Given the description of an element on the screen output the (x, y) to click on. 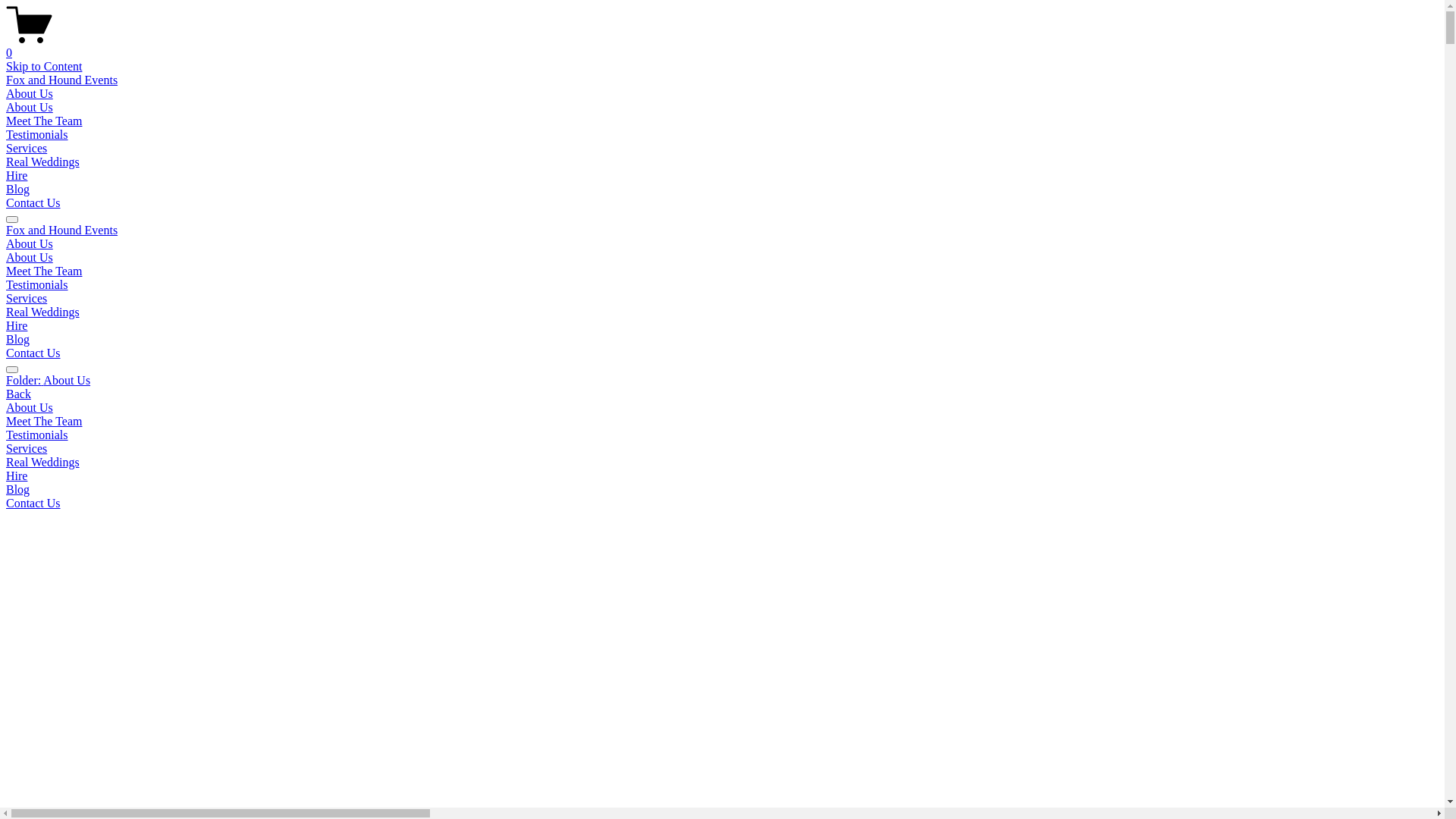
Blog Element type: text (722, 489)
Real Weddings Element type: text (722, 462)
Fox and Hound Events Element type: text (61, 79)
Real Weddings Element type: text (42, 311)
Blog Element type: text (17, 338)
About Us Element type: text (29, 93)
Testimonials Element type: text (37, 134)
Meet The Team Element type: text (43, 270)
Back Element type: text (18, 393)
Skip to Content Element type: text (43, 65)
Meet The Team Element type: text (43, 120)
Services Element type: text (26, 147)
Contact Us Element type: text (33, 202)
About Us Element type: text (29, 243)
About Us Element type: text (29, 257)
Blog Element type: text (17, 188)
Hire Element type: text (722, 476)
Hire Element type: text (16, 175)
0 Element type: text (722, 45)
Real Weddings Element type: text (42, 161)
About Us Element type: text (722, 407)
Testimonials Element type: text (37, 284)
Contact Us Element type: text (722, 503)
Meet The Team Element type: text (722, 421)
Services Element type: text (722, 448)
Testimonials Element type: text (722, 435)
About Us Element type: text (29, 106)
Services Element type: text (26, 297)
Fox and Hound Events Element type: text (61, 229)
Hire Element type: text (16, 325)
Folder: About Us Element type: text (722, 380)
Contact Us Element type: text (33, 352)
